Given the description of an element on the screen output the (x, y) to click on. 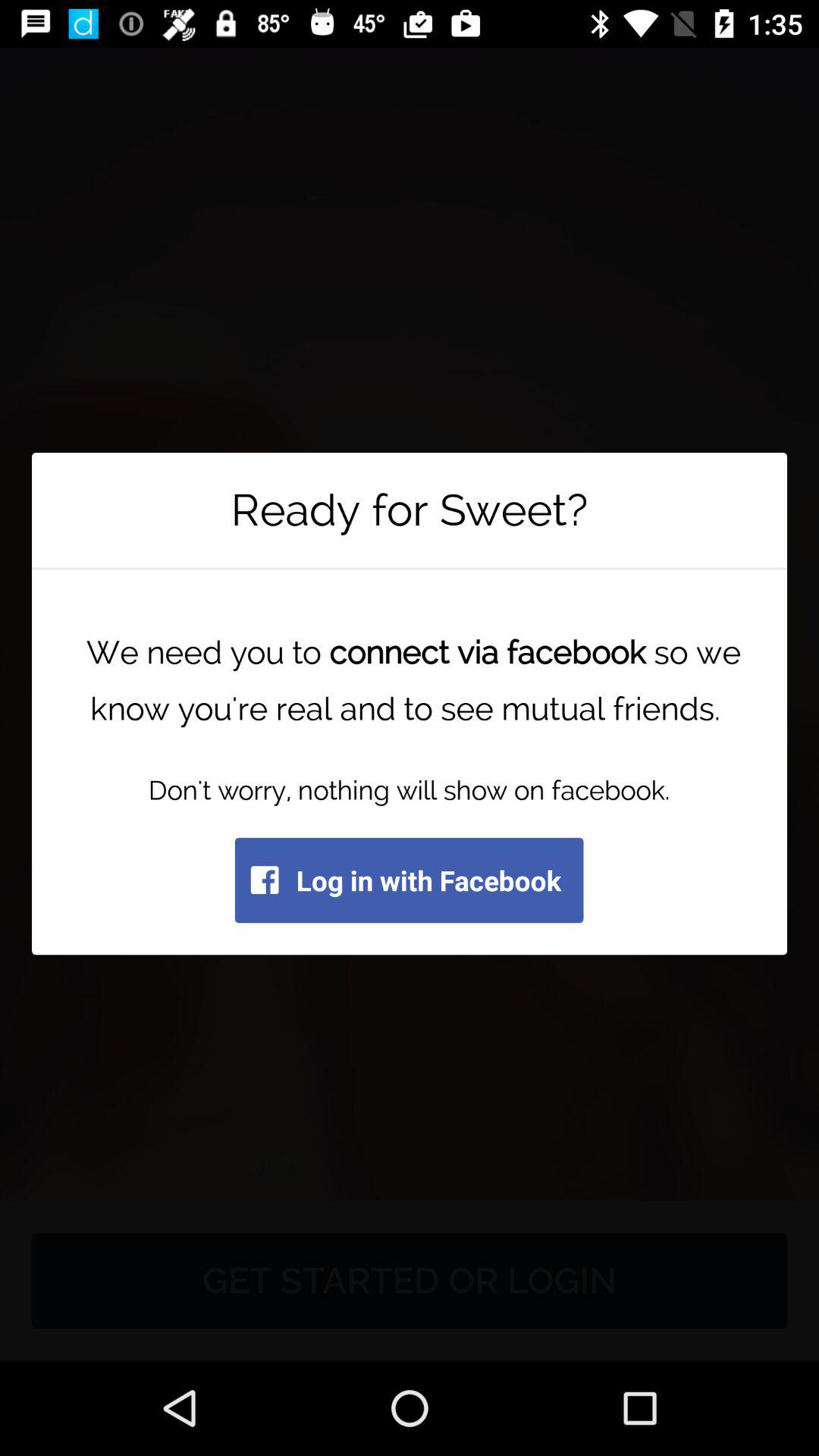
jump to the log in with (408, 880)
